Given the description of an element on the screen output the (x, y) to click on. 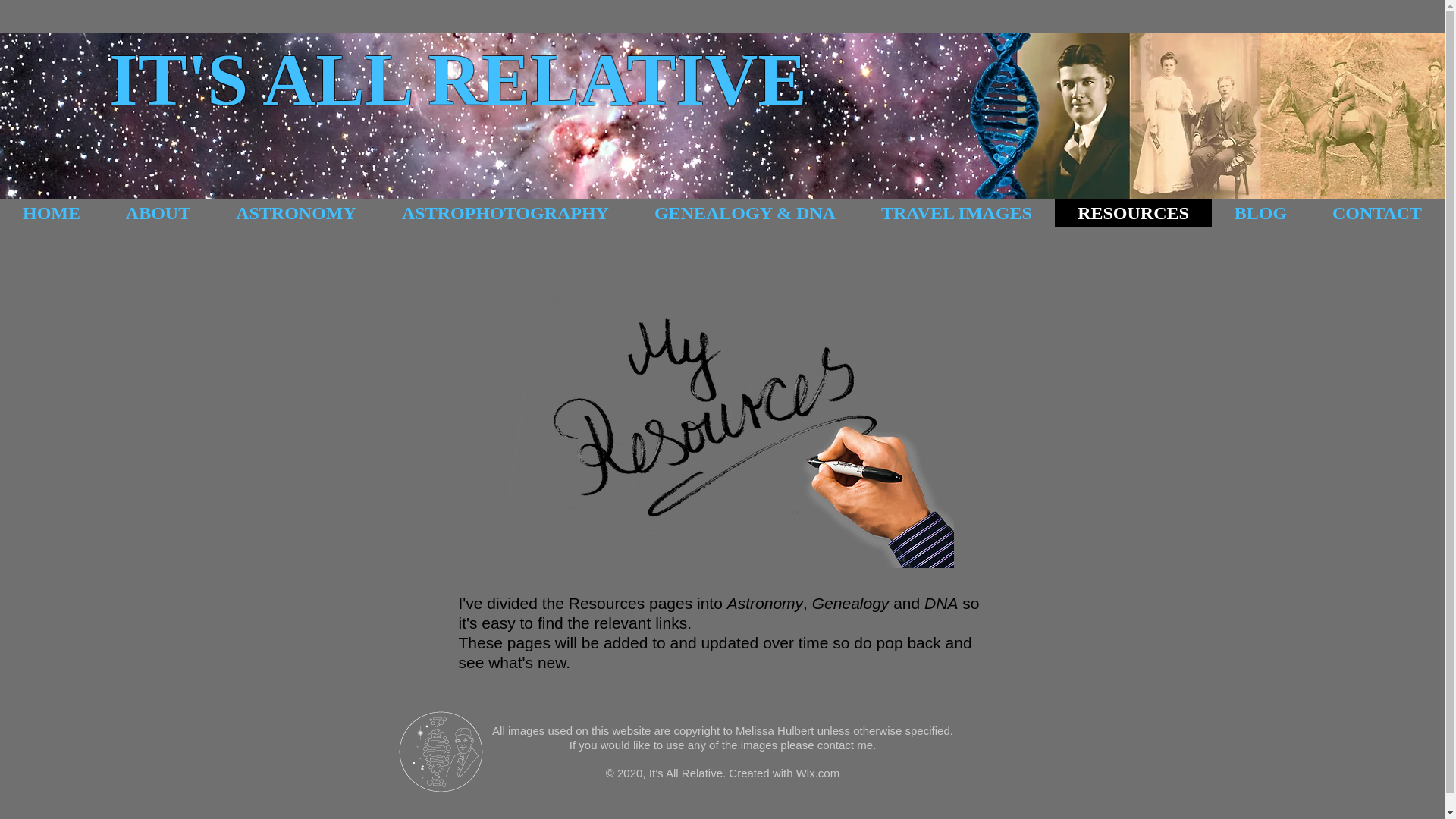
ABOUT Element type: text (158, 213)
BLOG Element type: text (1260, 213)
CONTACT Element type: text (1376, 213)
IT'S ALL RELATIVE Element type: text (457, 79)
ASTRONOMY Element type: text (296, 213)
GENEALOGY & DNA Element type: text (744, 213)
TRAVEL IMAGES Element type: text (956, 213)
ASTROPHOTOGRAPHY Element type: text (505, 213)
HOME Element type: text (51, 213)
RESOURCES Element type: text (1132, 213)
